Given the description of an element on the screen output the (x, y) to click on. 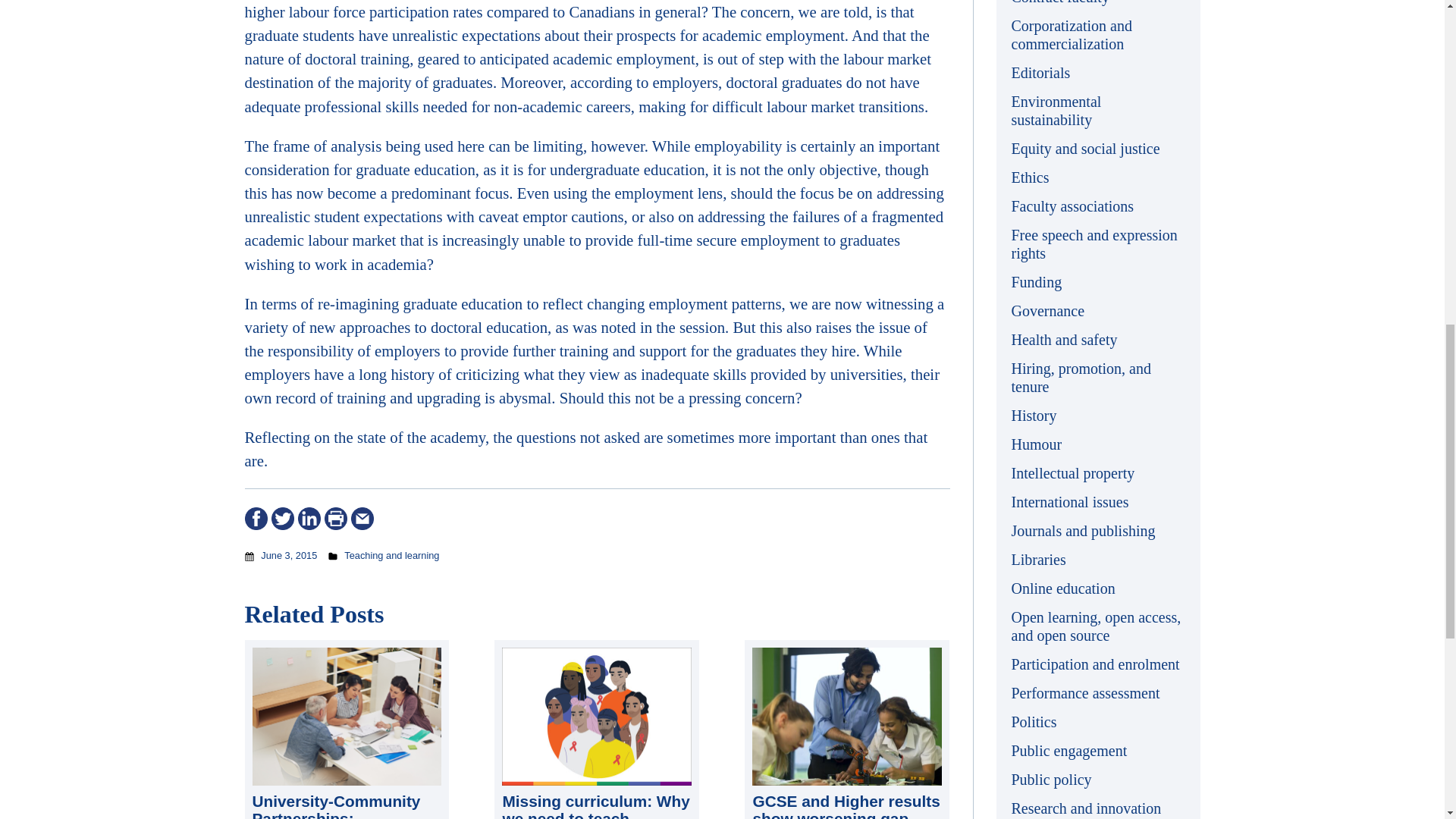
Teaching and learning (391, 555)
